Given the description of an element on the screen output the (x, y) to click on. 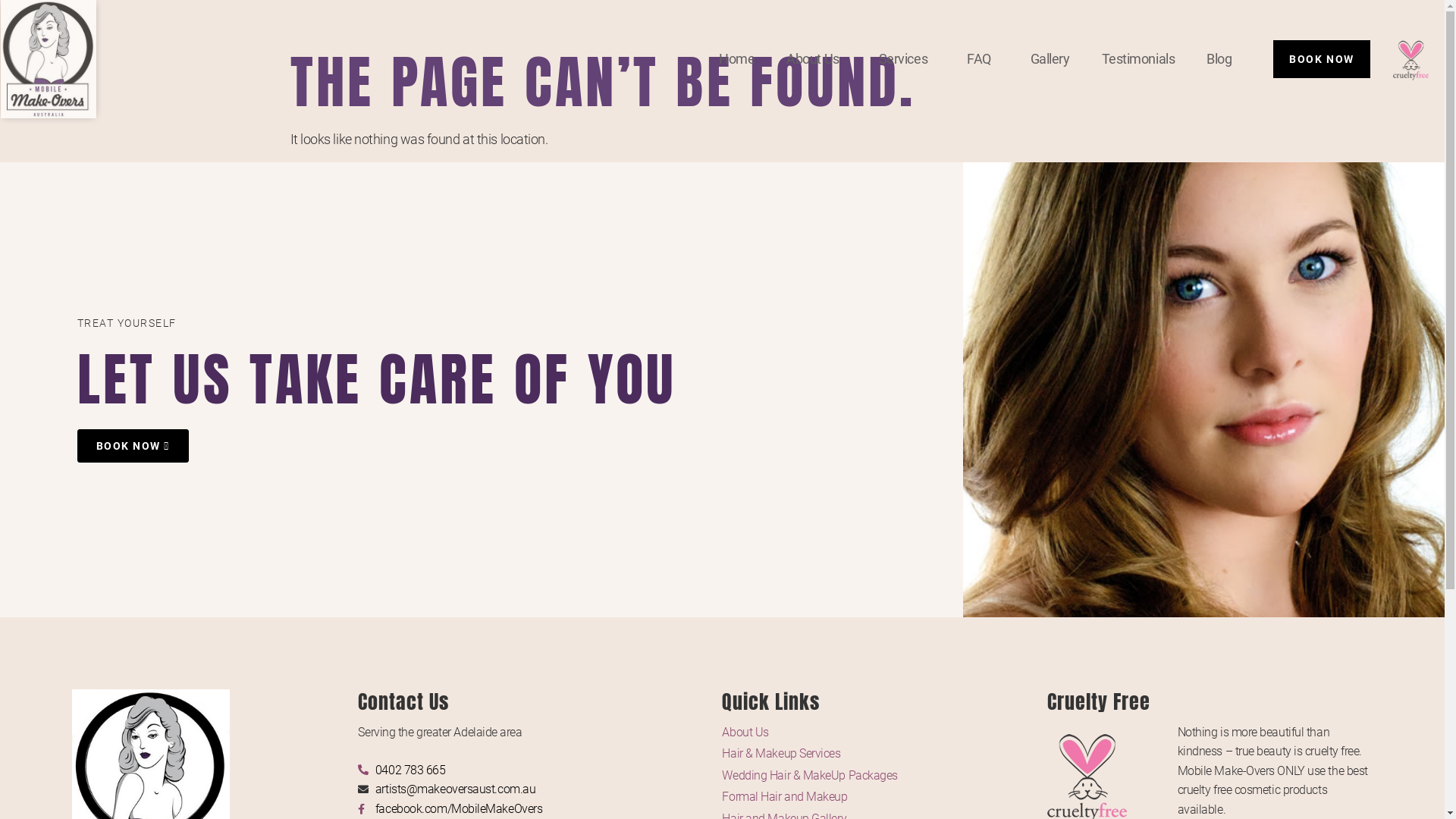
0402 783 665 Element type: text (539, 770)
About Us Element type: text (816, 59)
Hair & Makeup Services Element type: text (884, 753)
Testimonials Element type: text (1138, 59)
About Us Element type: text (884, 732)
Wedding Hair & MakeUp Packages Element type: text (884, 775)
BOOK NOW Element type: text (1321, 59)
Blog Element type: text (1218, 59)
Formal Hair and Makeup Element type: text (884, 796)
Home Element type: text (736, 59)
Services Element type: text (906, 59)
FAQ Element type: text (982, 59)
Gallery Element type: text (1050, 59)
